Given the description of an element on the screen output the (x, y) to click on. 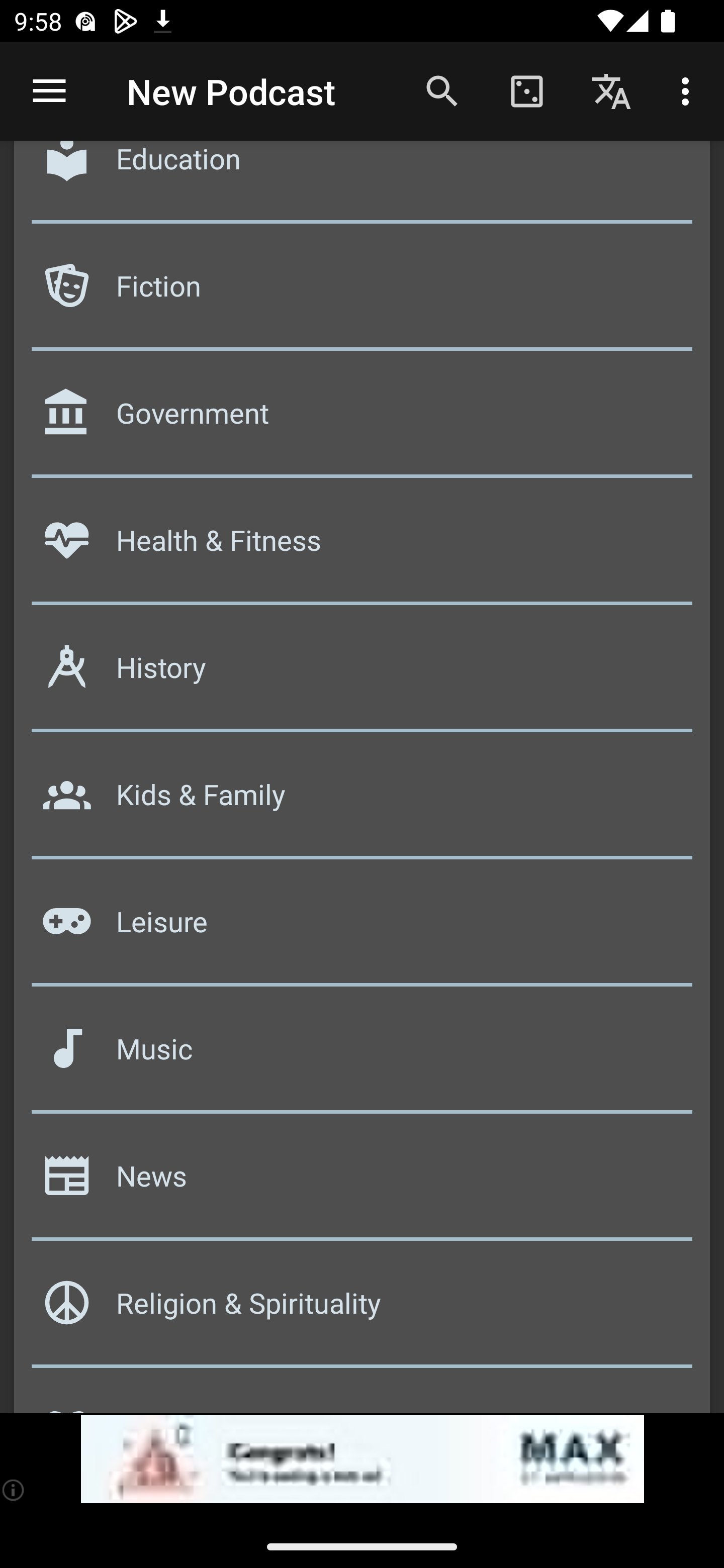
Open navigation sidebar (49, 91)
Search (442, 90)
Random pick (526, 90)
Podcast languages (611, 90)
More options (688, 90)
Education (361, 184)
Fiction (361, 291)
Government (361, 418)
Health & Fitness (361, 545)
History (361, 673)
Kids & Family (361, 801)
Leisure (361, 928)
Music (361, 1055)
News (361, 1182)
Religion & Spirituality (361, 1309)
app-monetization (362, 1459)
(i) (14, 1489)
